Given the description of an element on the screen output the (x, y) to click on. 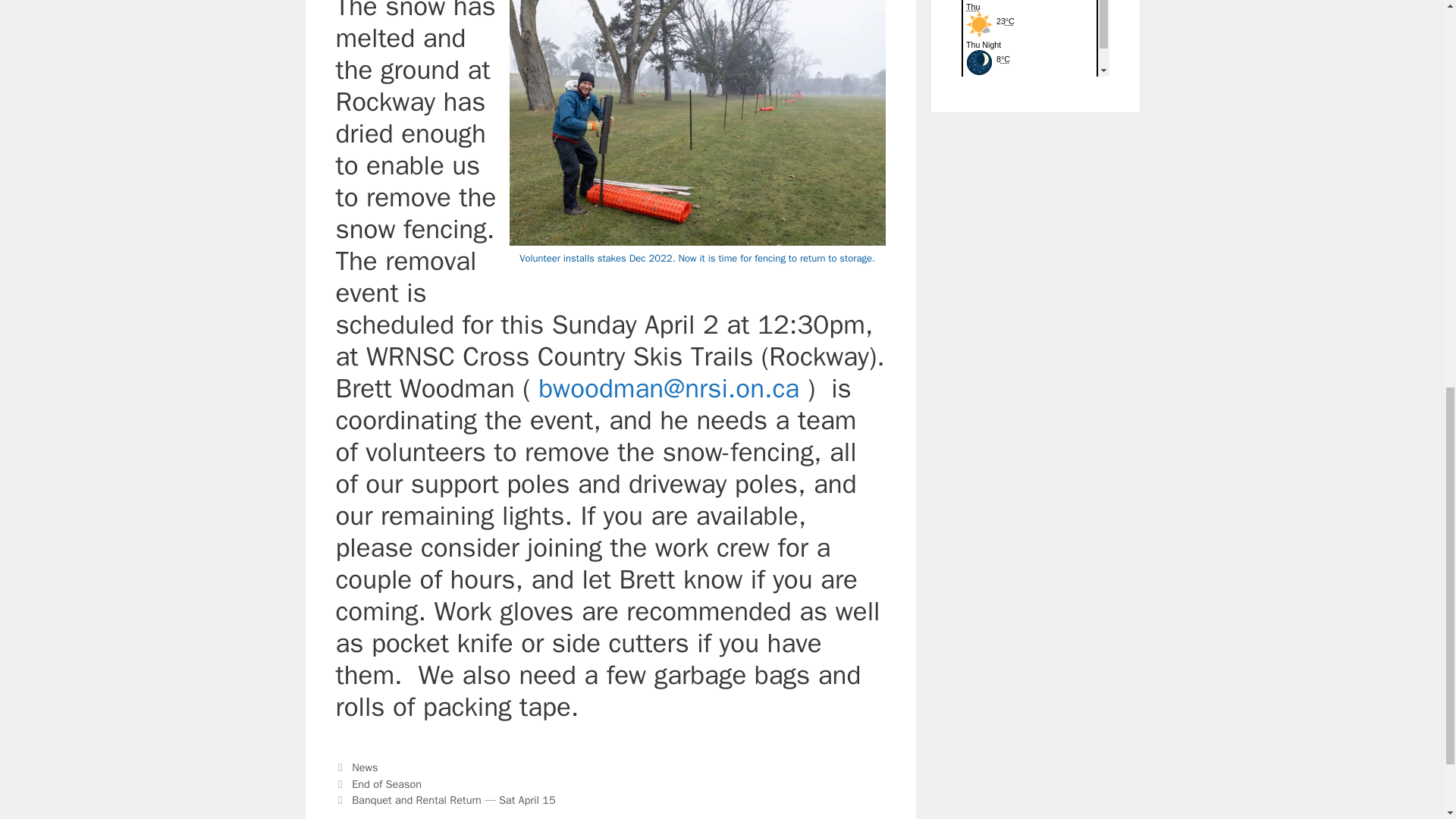
News (364, 766)
Scroll back to top (1406, 720)
Environment Canada Weather (1034, 38)
End of Season (387, 784)
